Given the description of an element on the screen output the (x, y) to click on. 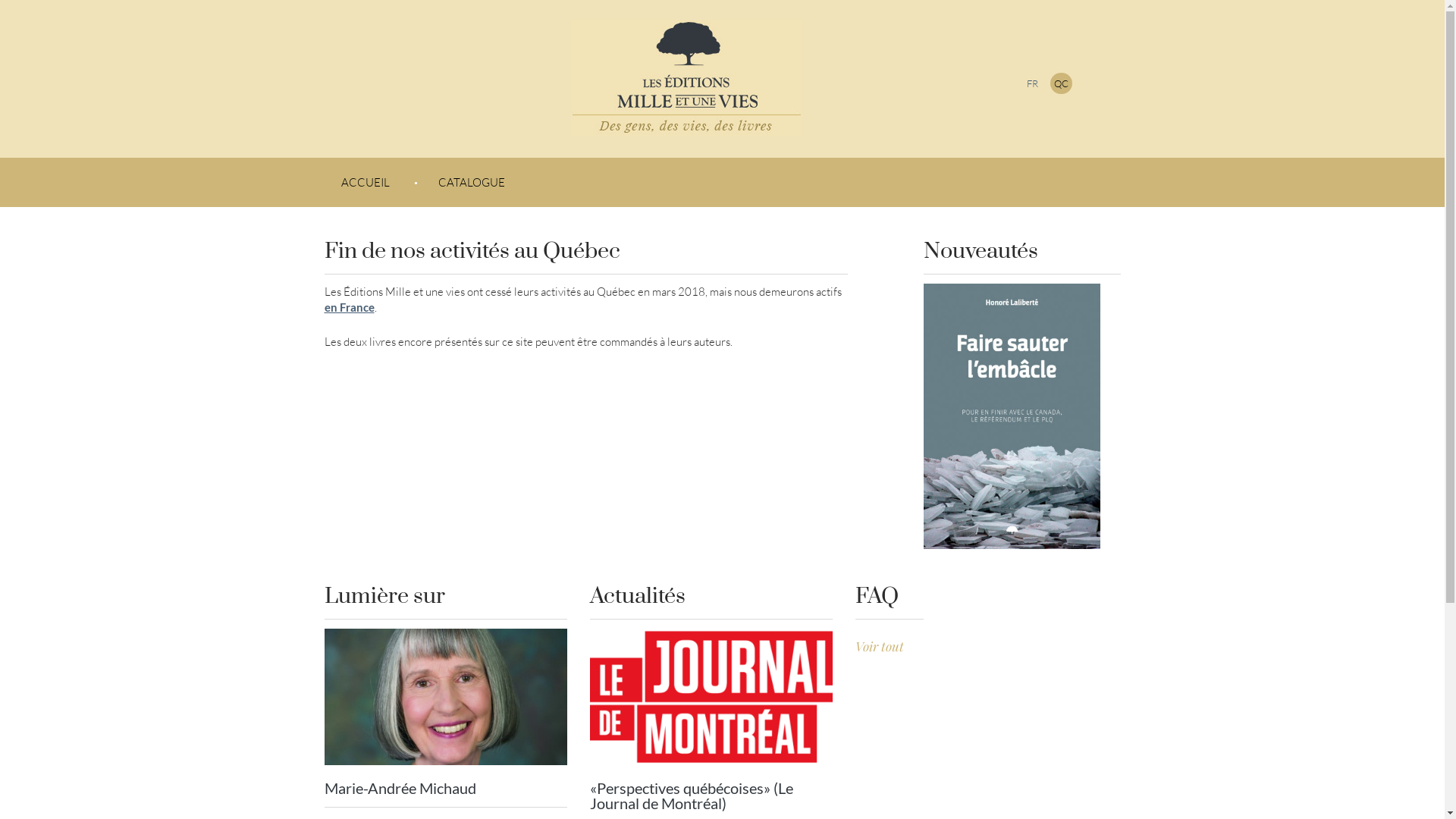
en France Element type: text (349, 306)
CATALOGUE Element type: text (469, 182)
ALLER AU CONTENU Element type: text (399, 165)
ACCUEIL Element type: text (365, 182)
QC Element type: text (1060, 83)
Voir tout Element type: text (879, 645)
FR Element type: text (1032, 83)
